Given the description of an element on the screen output the (x, y) to click on. 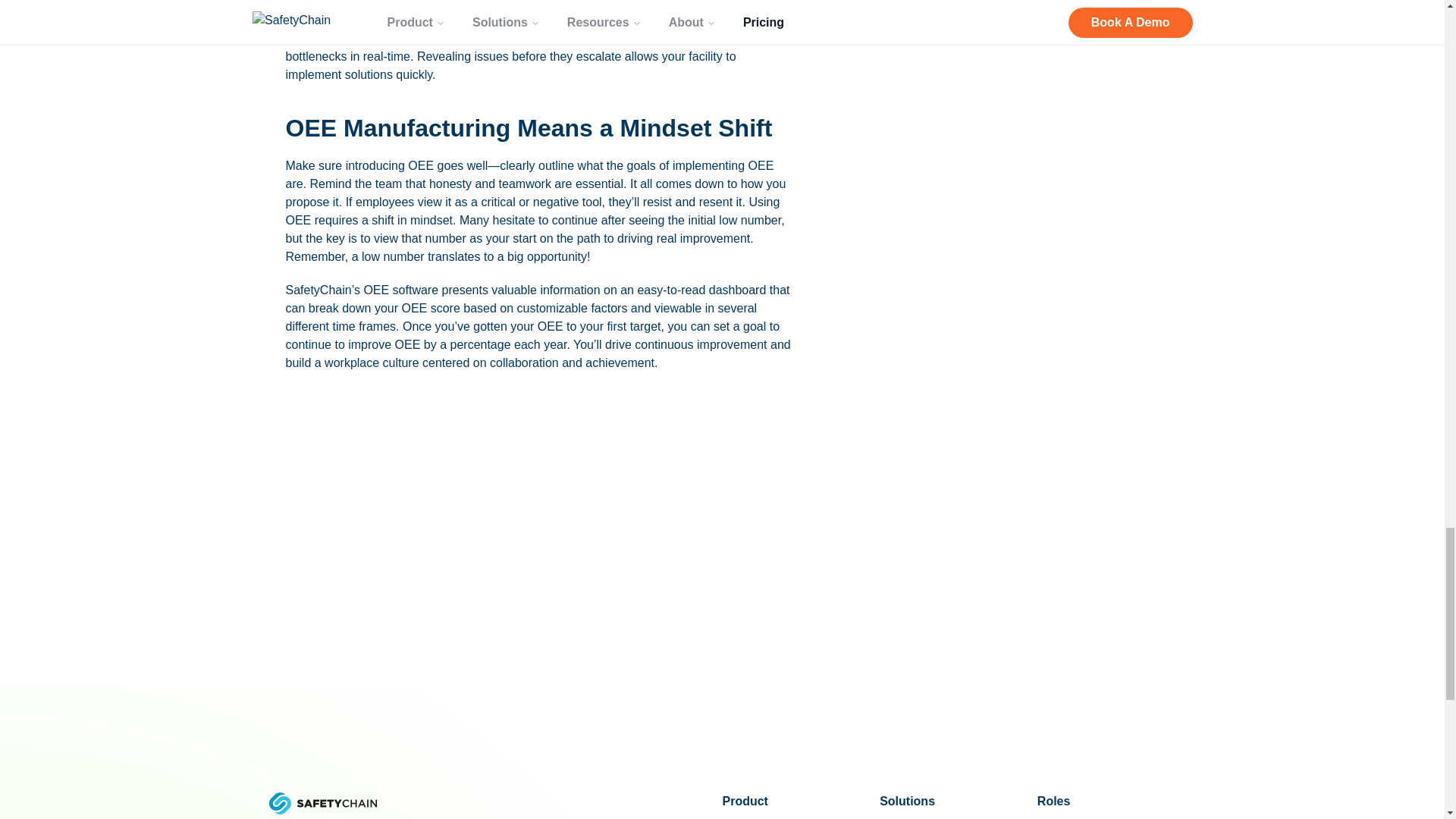
Co-Manufacturing (949, 734)
CPG (949, 710)
OEE software does come at a cost (516, 13)
Packaging (949, 809)
Manage Quality (791, 734)
Process Controls (791, 760)
Digital Plant Management (791, 685)
Manage Suppliers (791, 784)
Quality (1106, 685)
Production (1106, 710)
